Given the description of an element on the screen output the (x, y) to click on. 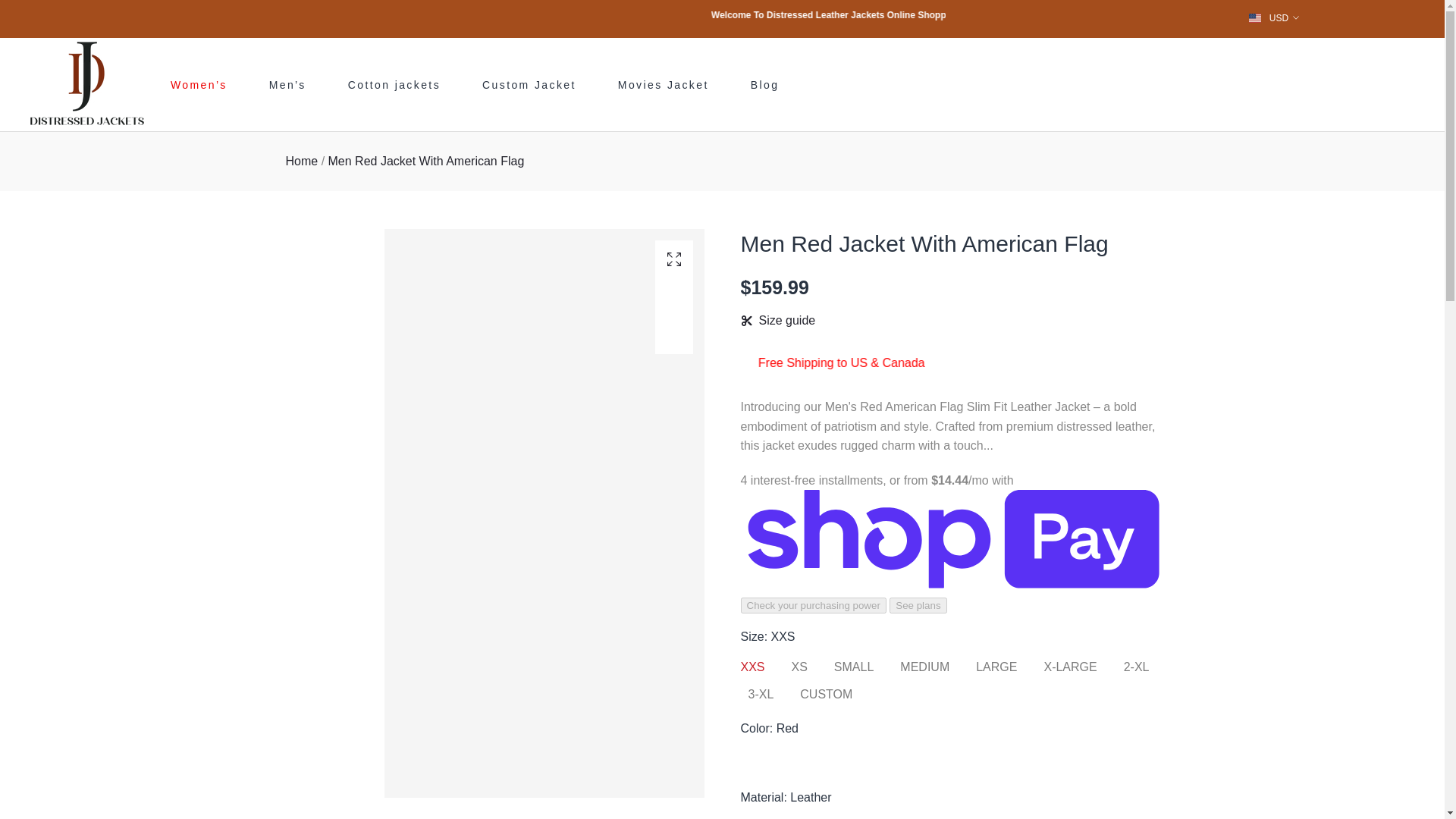
Skip to content (10, 7)
White (779, 759)
Blue (809, 759)
USD (1273, 17)
Red (748, 759)
